Given the description of an element on the screen output the (x, y) to click on. 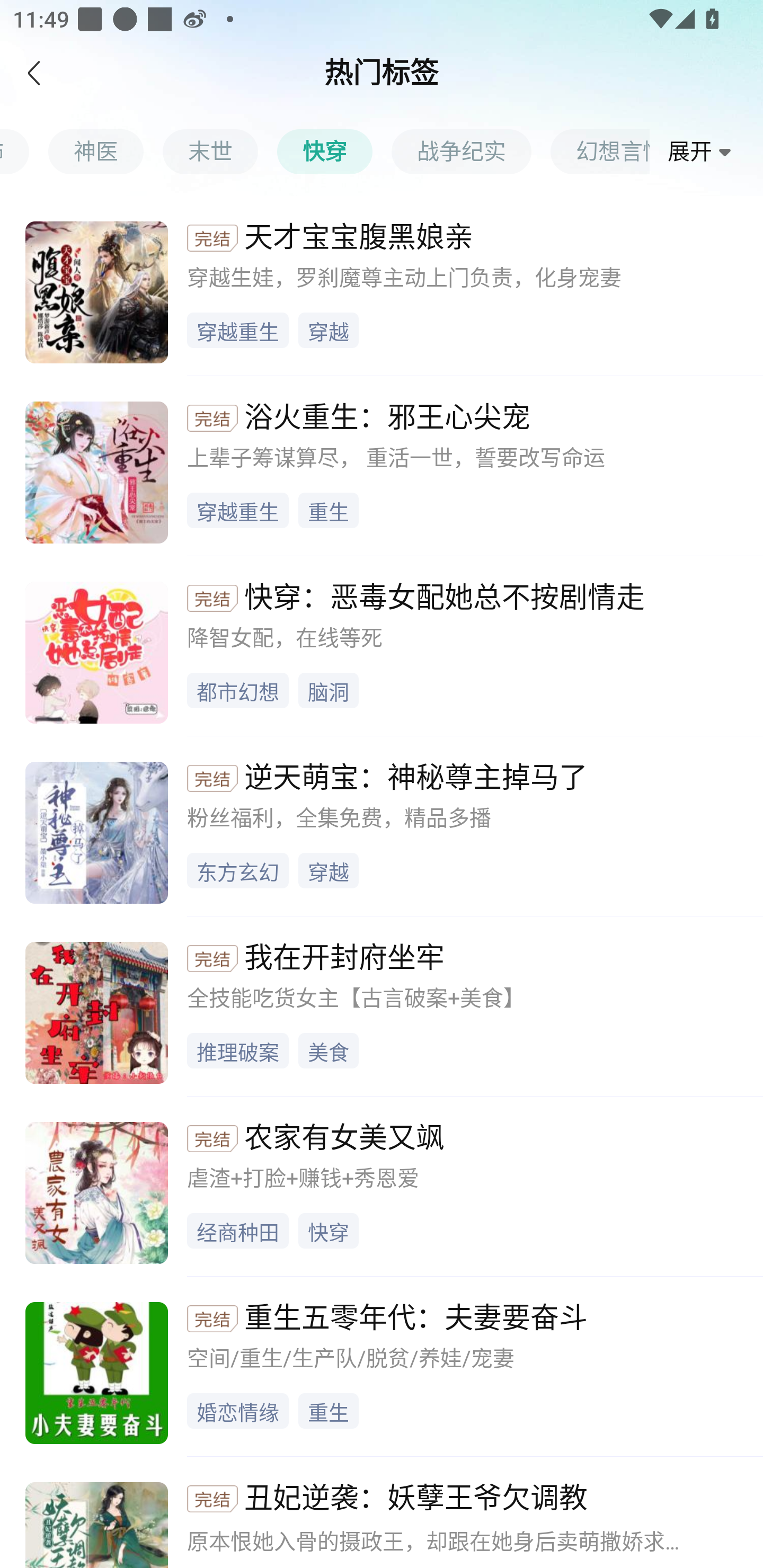
神医 (105, 151)
末世 (219, 151)
快穿 (333, 151)
战争纪实 (470, 151)
幻想言情 (599, 151)
展开 (702, 151)
00天才宝宝腹黑娘亲 穿越生娃，罗刹魔尊主动上门负责，化身宠妻 穿越重生 穿越 (381, 286)
00浴火重生：邪王心尖宠 上辈子筹谋算尽， 重活一世，誓要改写命运 穿越重生 重生 (381, 465)
00快穿：恶毒女配她总不按剧情走 降智女配，在线等死 都市幻想 脑洞 (381, 645)
00逆天萌宝：神秘尊主掉马了 粉丝福利，全集免费，精品多播 东方玄幻 穿越 (381, 825)
00我在开封府坐牢 全技能吃货女主【古言破案+美食】 推理破案 美食 (381, 1005)
00农家有女美又飒 虐渣+打脸+赚钱+秀恩爱 经商种田 快穿 (381, 1186)
00重生五零年代：夫妻要奋斗 空间/重生/生产队/脱贫/养娃/宠妻 婚恋情缘 重生 (381, 1366)
00丑妃逆袭：妖孽王爷欠调教 原本恨她入骨的摄政王，却跟在她身后卖萌撒娇求抱抱。 (381, 1512)
